Given the description of an element on the screen output the (x, y) to click on. 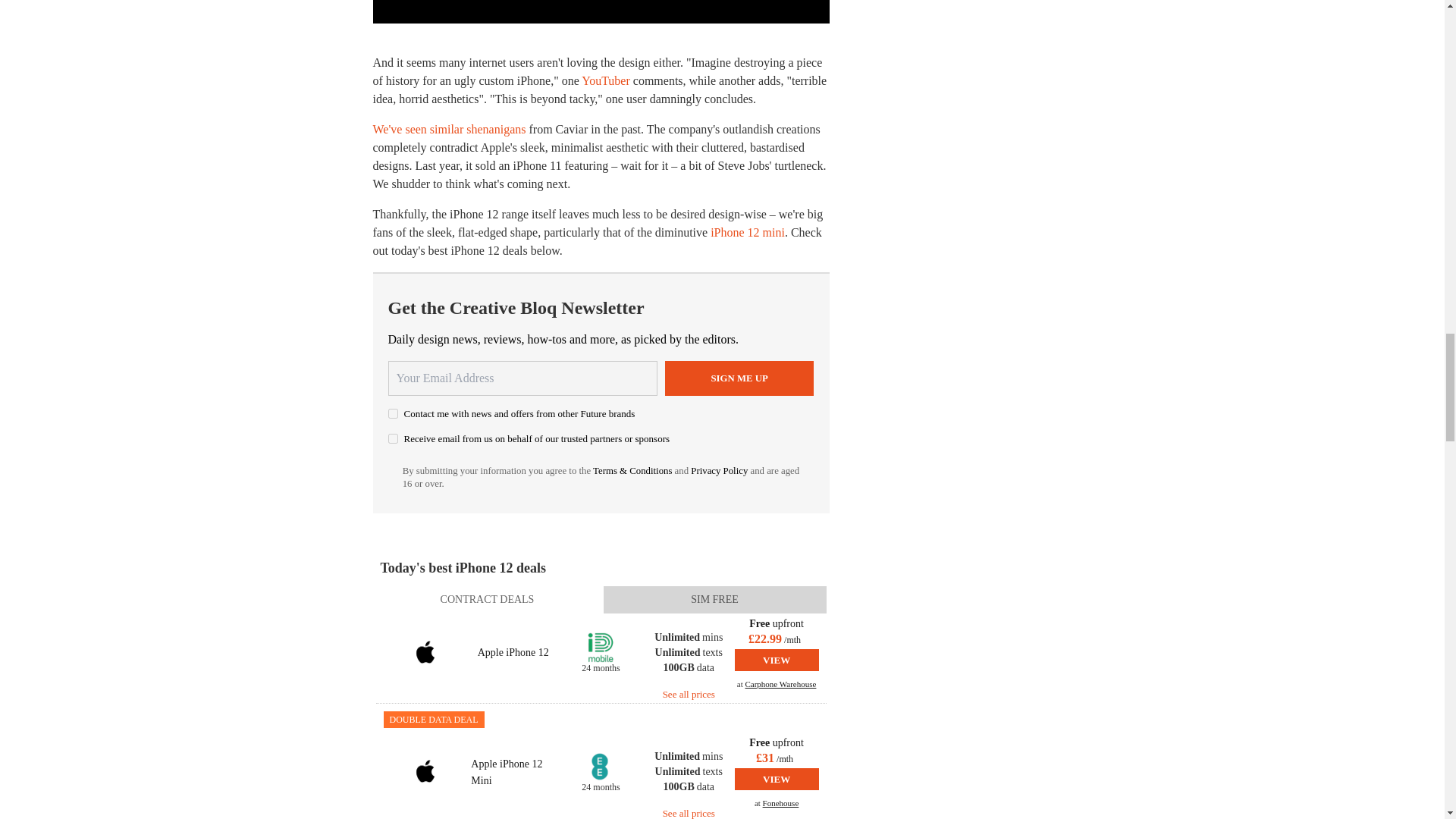
on (392, 413)
Double data deal (434, 719)
iPhone 12 Mini (425, 772)
Sign me up (739, 378)
ID (600, 647)
on (392, 438)
EE (600, 766)
